Given the description of an element on the screen output the (x, y) to click on. 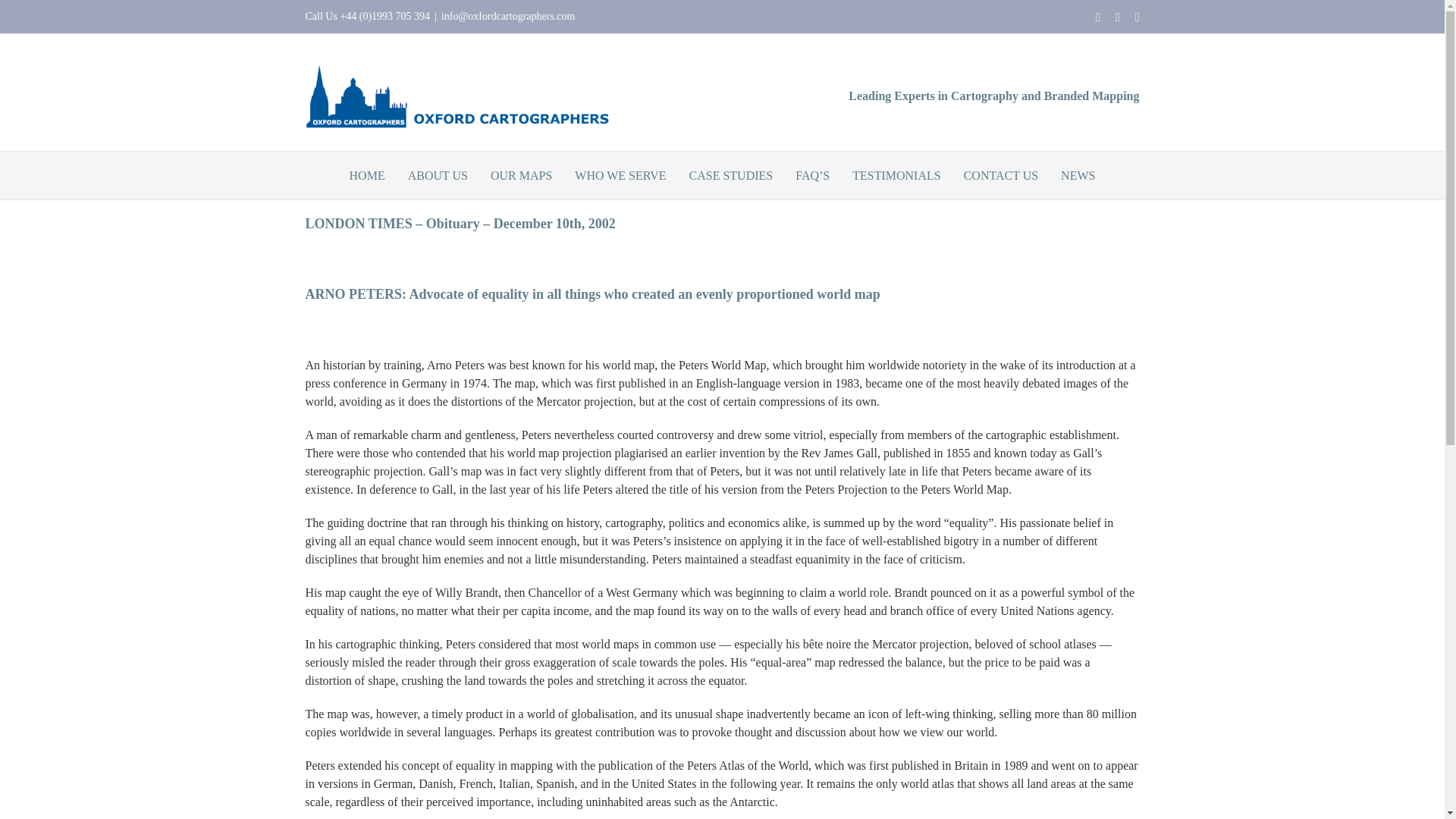
CASE STUDIES (730, 175)
WHO WE SERVE (620, 175)
ABOUT US (437, 175)
CONTACT US (1000, 175)
TESTIMONIALS (895, 175)
OUR MAPS (520, 175)
